Given the description of an element on the screen output the (x, y) to click on. 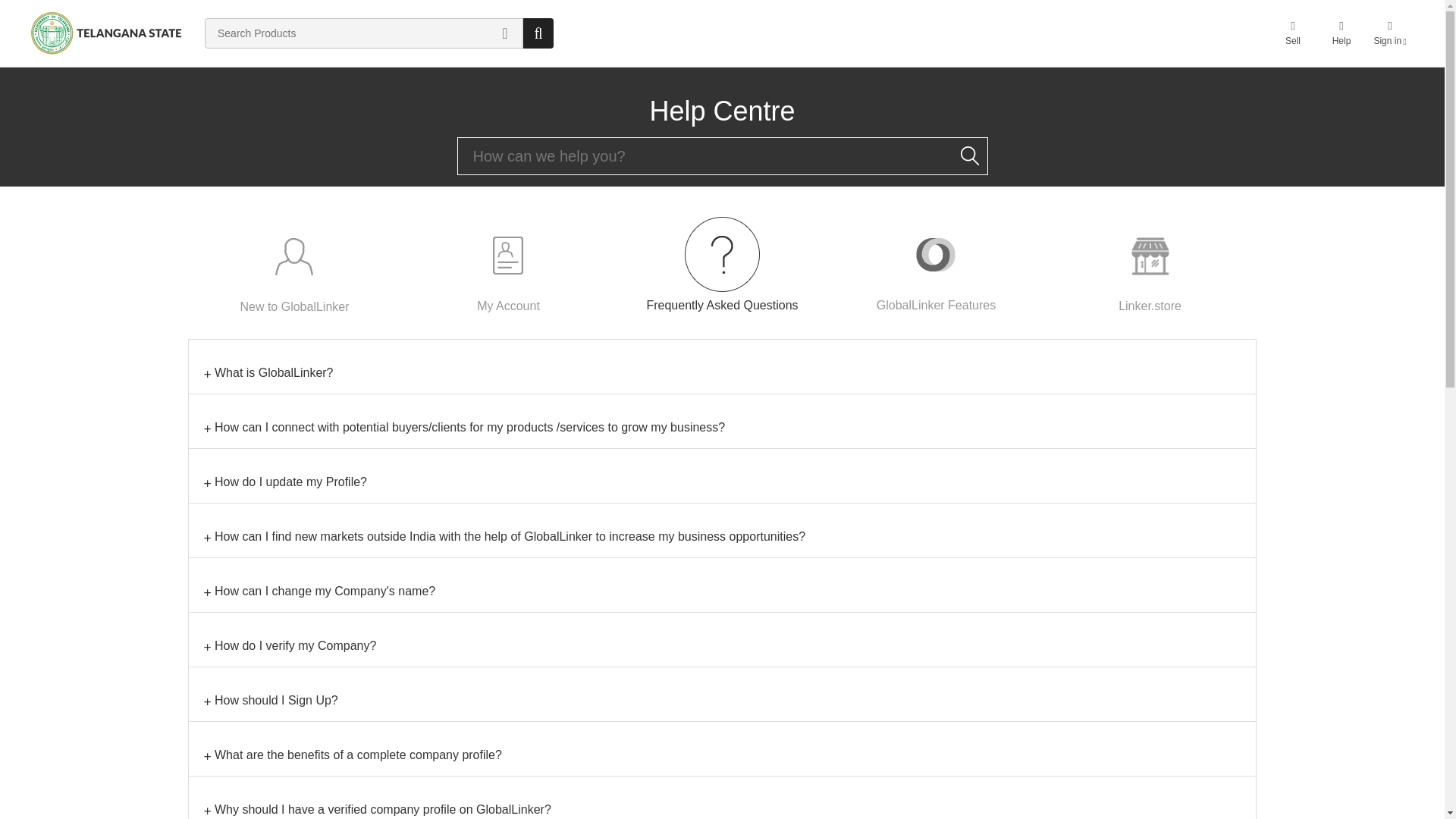
Help (1341, 33)
New to GlobalLinker (294, 265)
Sell (1292, 33)
Frequently Asked Questions (721, 264)
Globallinker (106, 33)
What is GlobalLinker? (721, 372)
GlobalLinker Features (935, 264)
Help Centre (721, 111)
Sign in (1389, 33)
